Given the description of an element on the screen output the (x, y) to click on. 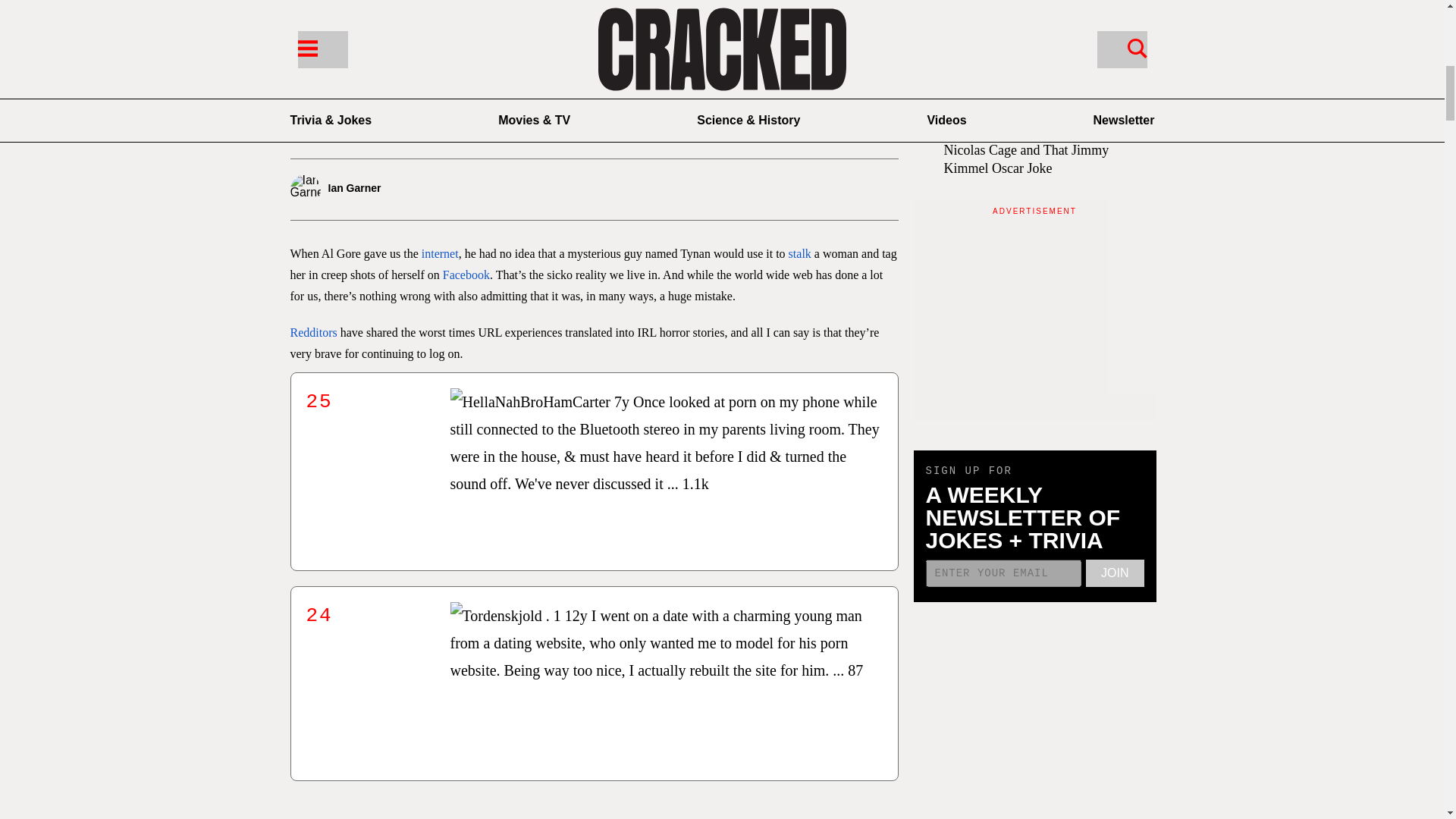
internet (440, 253)
Redditors (312, 332)
stalk (799, 253)
Ian Garner (388, 189)
Facebook (465, 274)
